Given the description of an element on the screen output the (x, y) to click on. 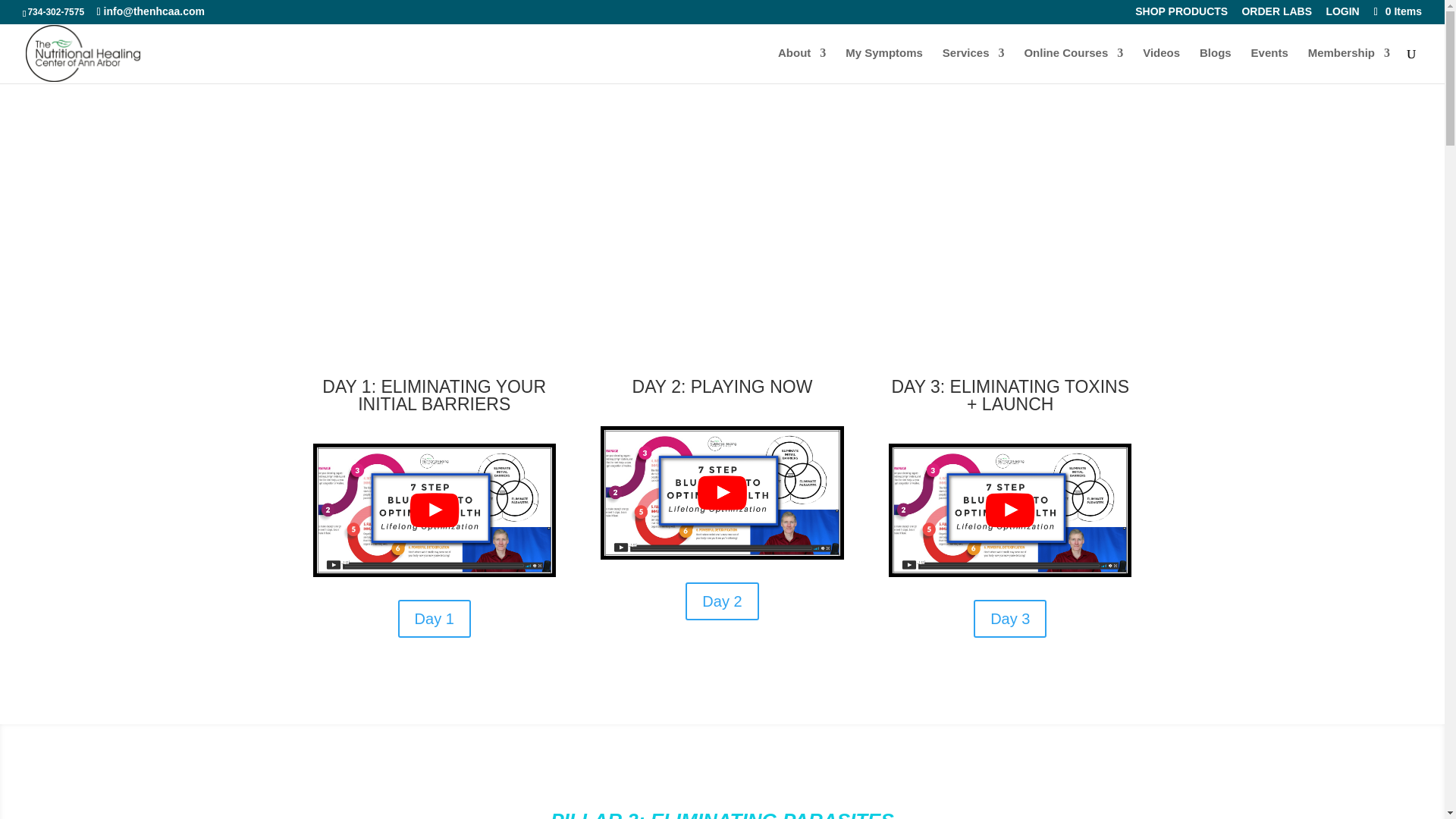
0 Items (1396, 10)
My Symptoms (884, 65)
SHOP PRODUCTS (1181, 15)
About (801, 65)
Online Courses (1072, 65)
LOGIN (1341, 15)
Events (1269, 65)
ORDER LABS (1276, 15)
Videos (1160, 65)
Services (973, 65)
